Given the description of an element on the screen output the (x, y) to click on. 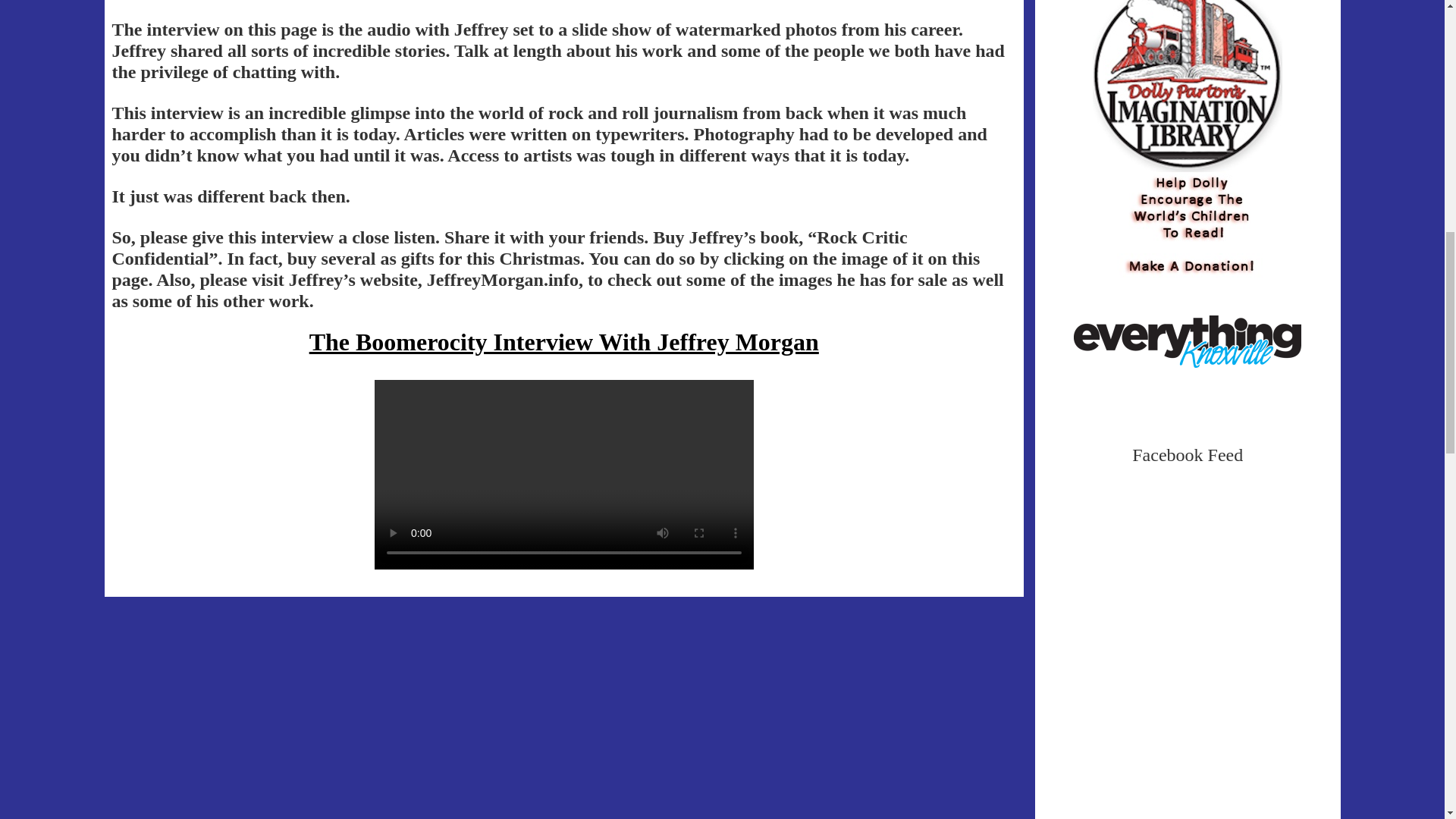
Imagination Library Right (1187, 124)
Everything Knoxville (1187, 339)
